Given the description of an element on the screen output the (x, y) to click on. 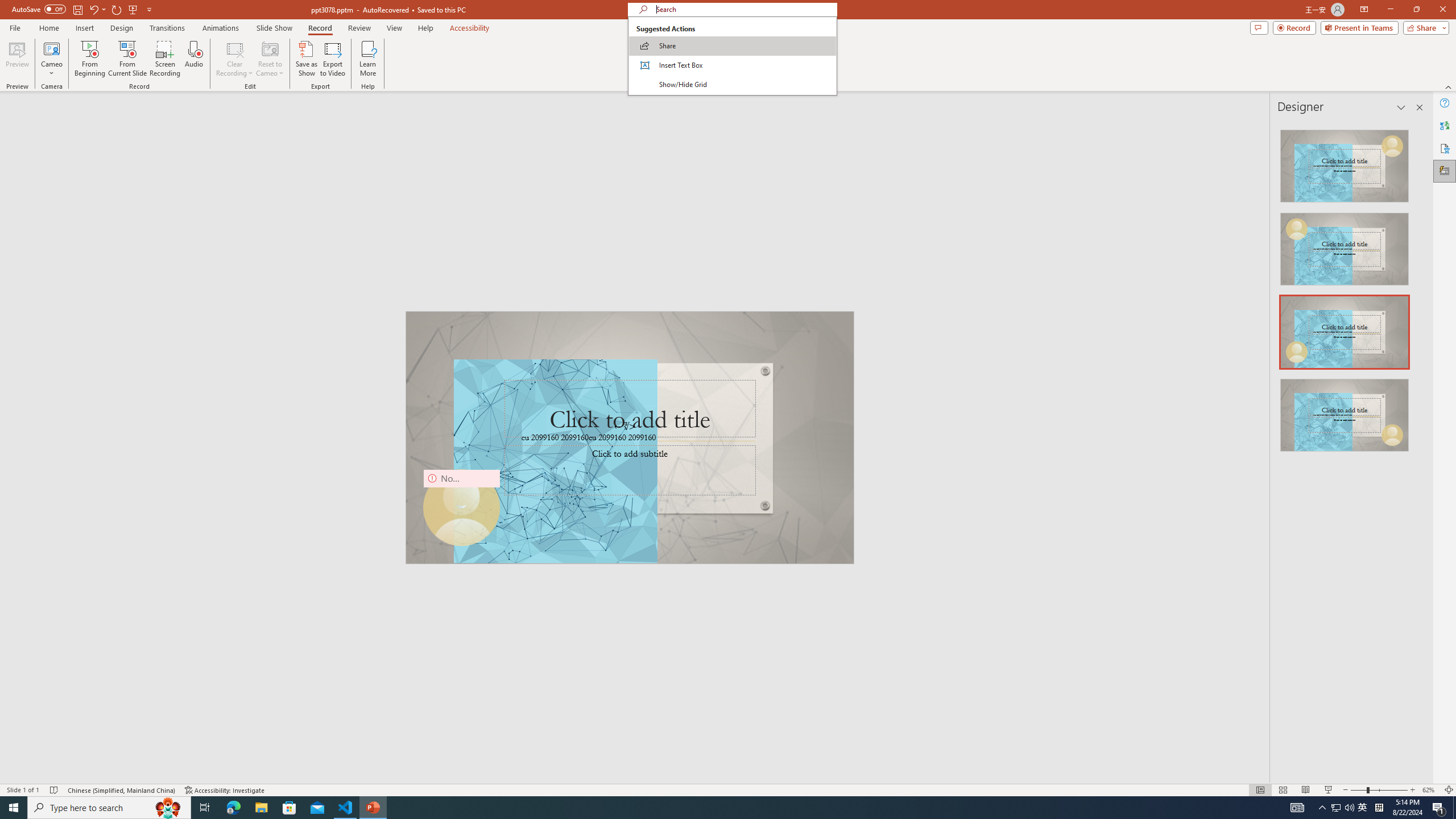
Show/Hide Grid (731, 84)
Insert Text Box (731, 65)
An abstract genetic concept (629, 437)
